Given the description of an element on the screen output the (x, y) to click on. 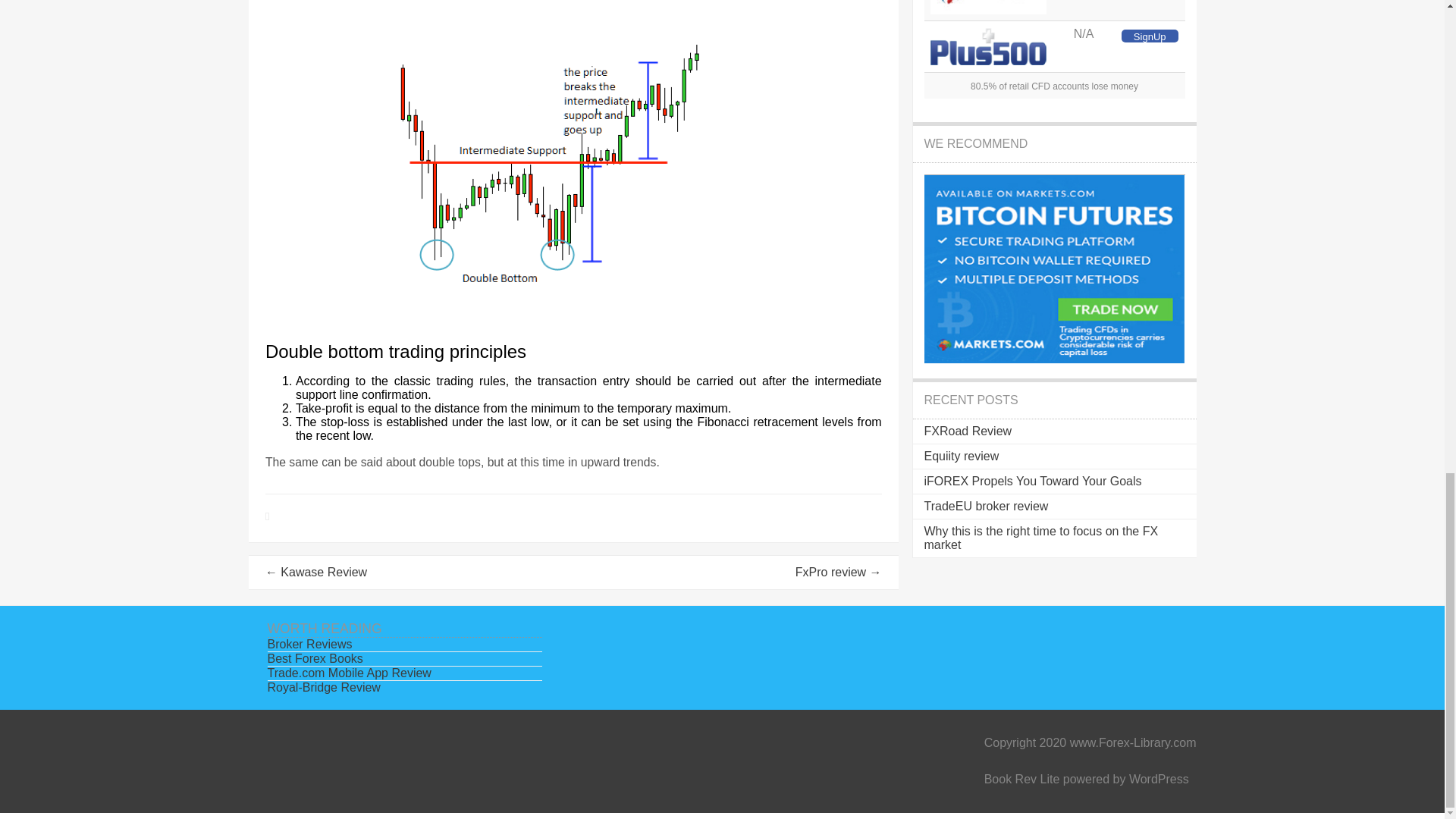
SignUp (1149, 35)
